Given the description of an element on the screen output the (x, y) to click on. 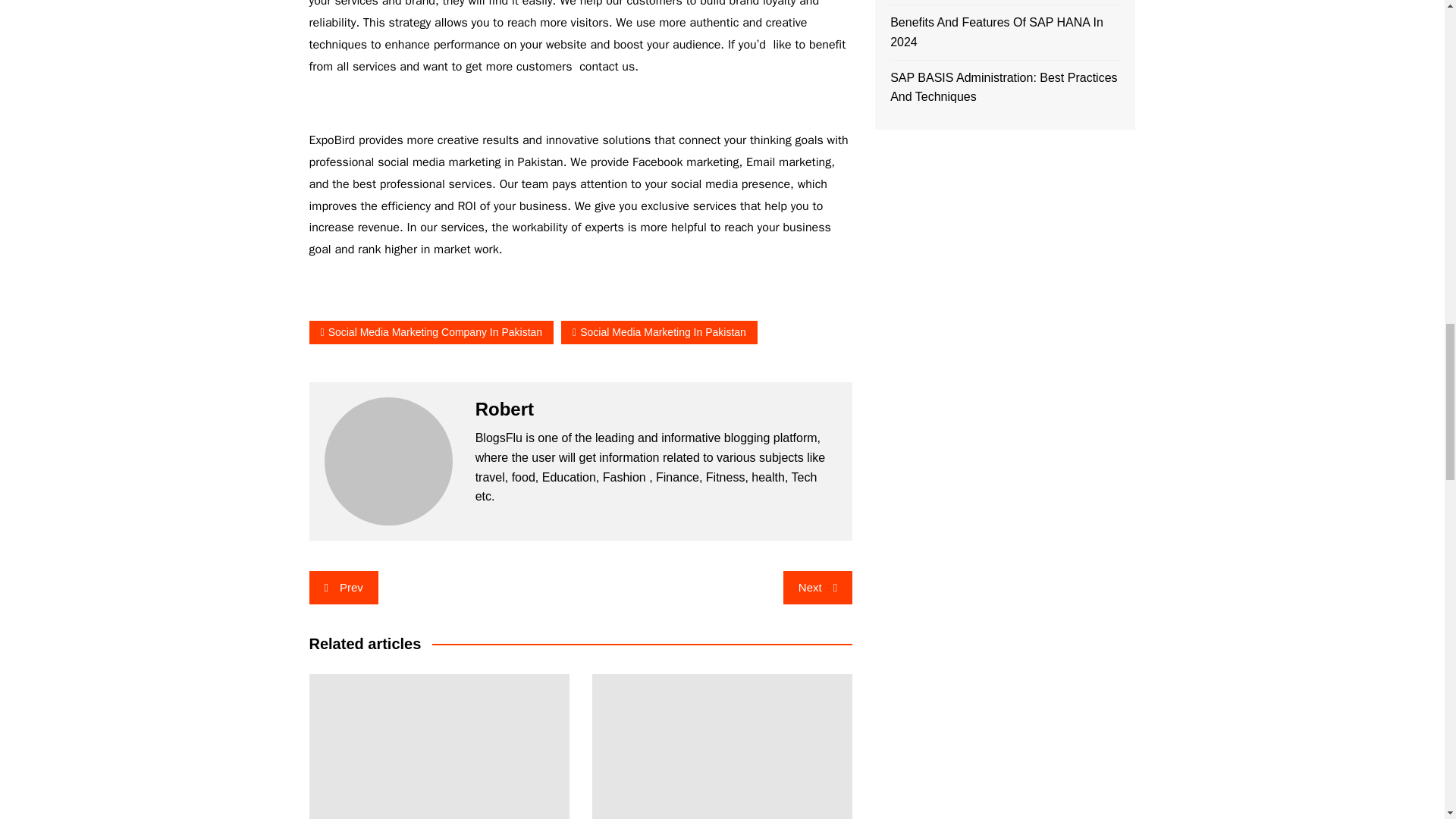
Social Media Marketing Company In Pakistan (431, 332)
Social Media Marketing In Pakistan (658, 332)
Prev (343, 587)
Next (817, 587)
